Given the description of an element on the screen output the (x, y) to click on. 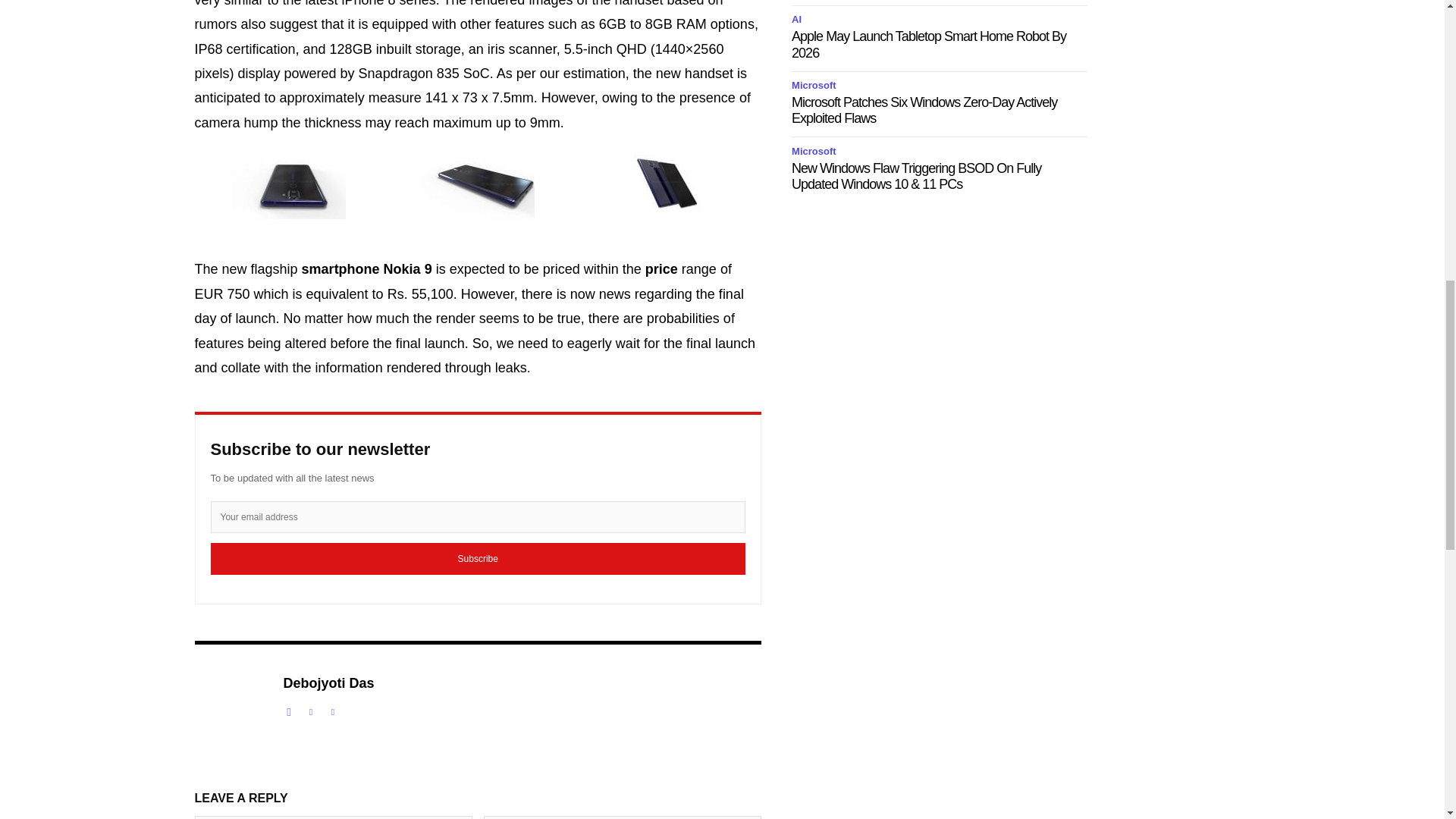
Debojyoti Das (328, 683)
Debojyoti Das (229, 706)
Linkedin (309, 708)
Twitter (333, 708)
Facebook (289, 708)
Subscribe (478, 558)
